Given the description of an element on the screen output the (x, y) to click on. 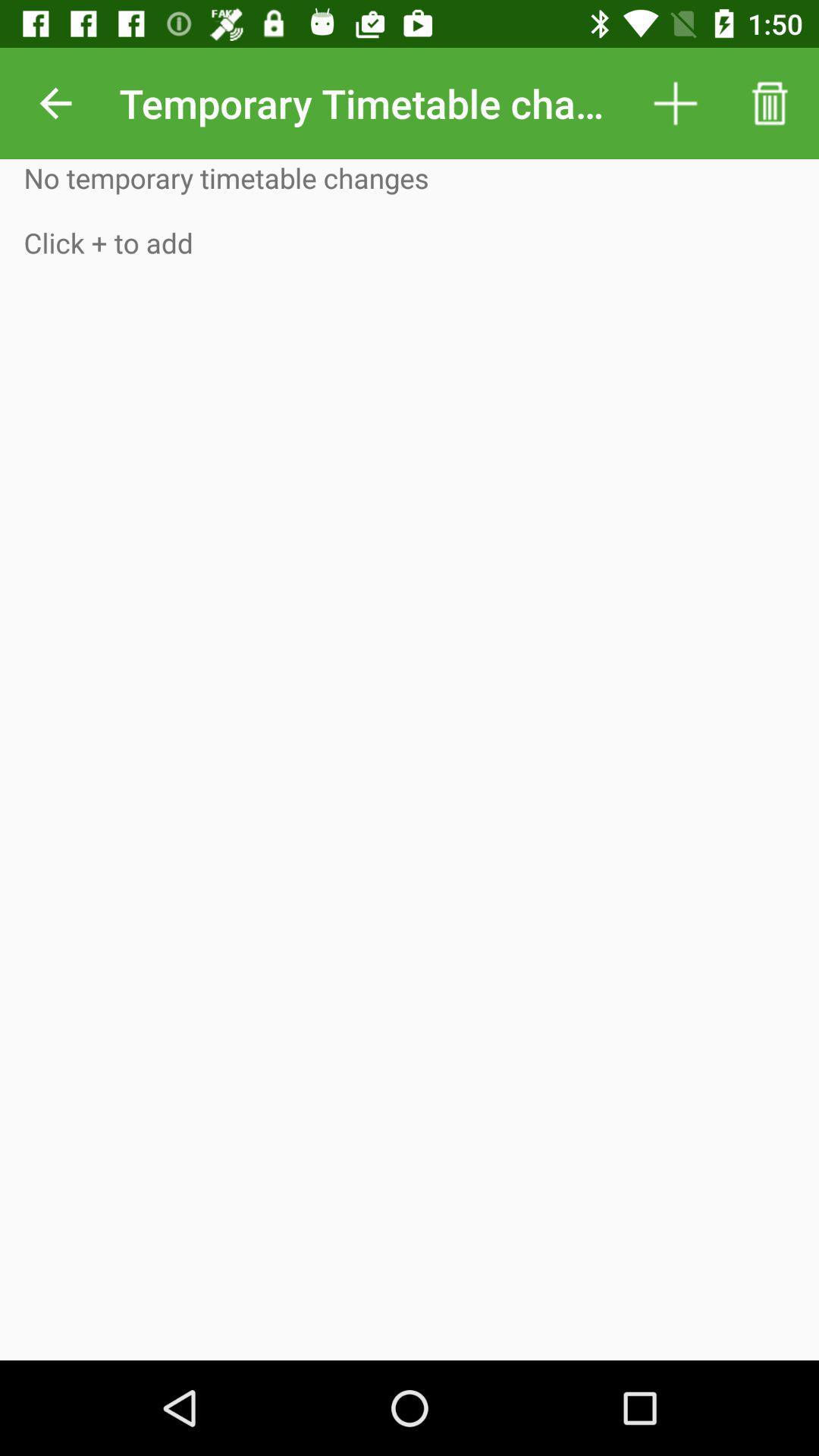
tap the app to the left of temporary timetable changes (55, 103)
